Given the description of an element on the screen output the (x, y) to click on. 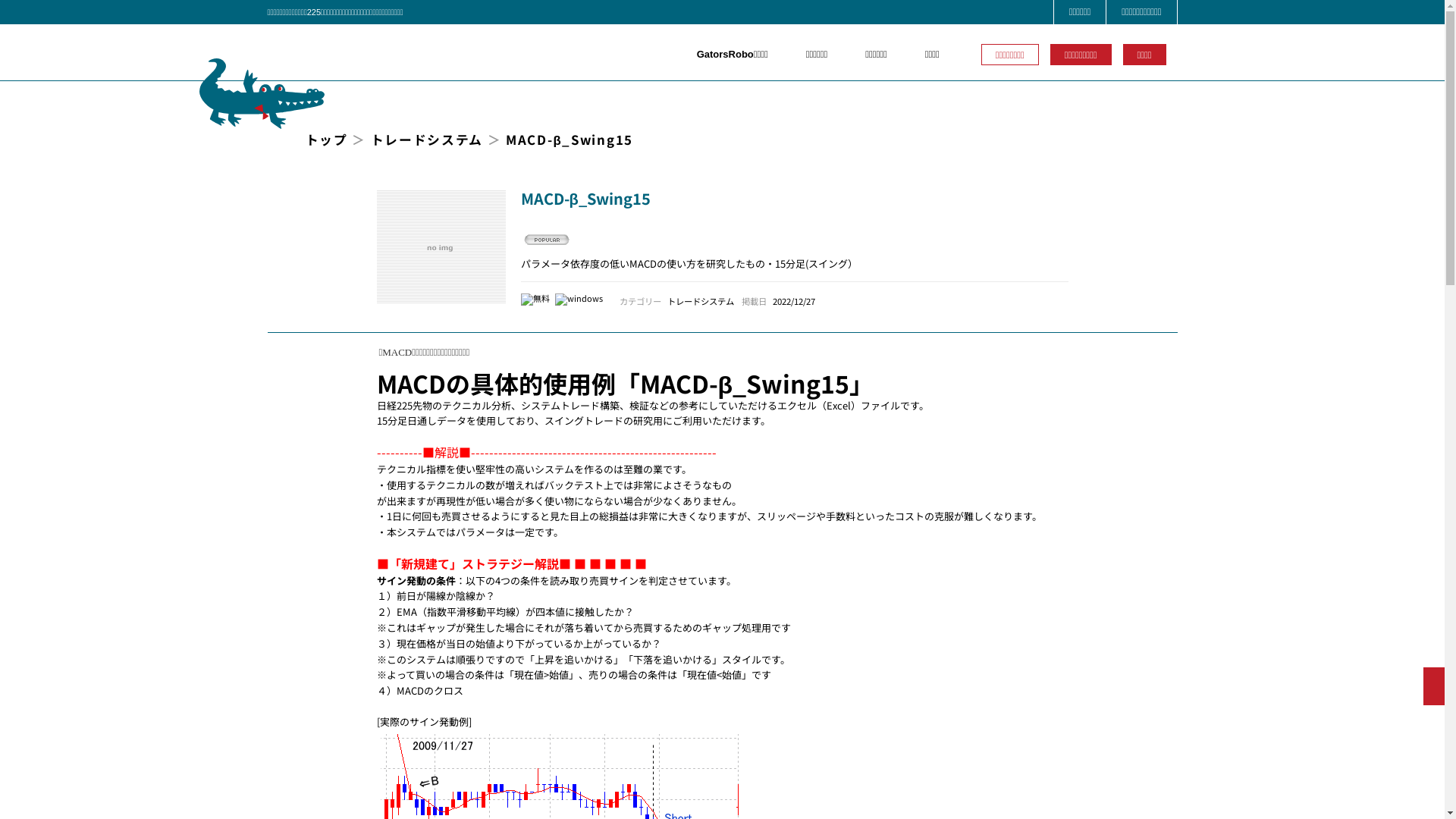
PAGE TOP Element type: text (1433, 686)
225Labo Element type: text (334, 51)
